Given the description of an element on the screen output the (x, y) to click on. 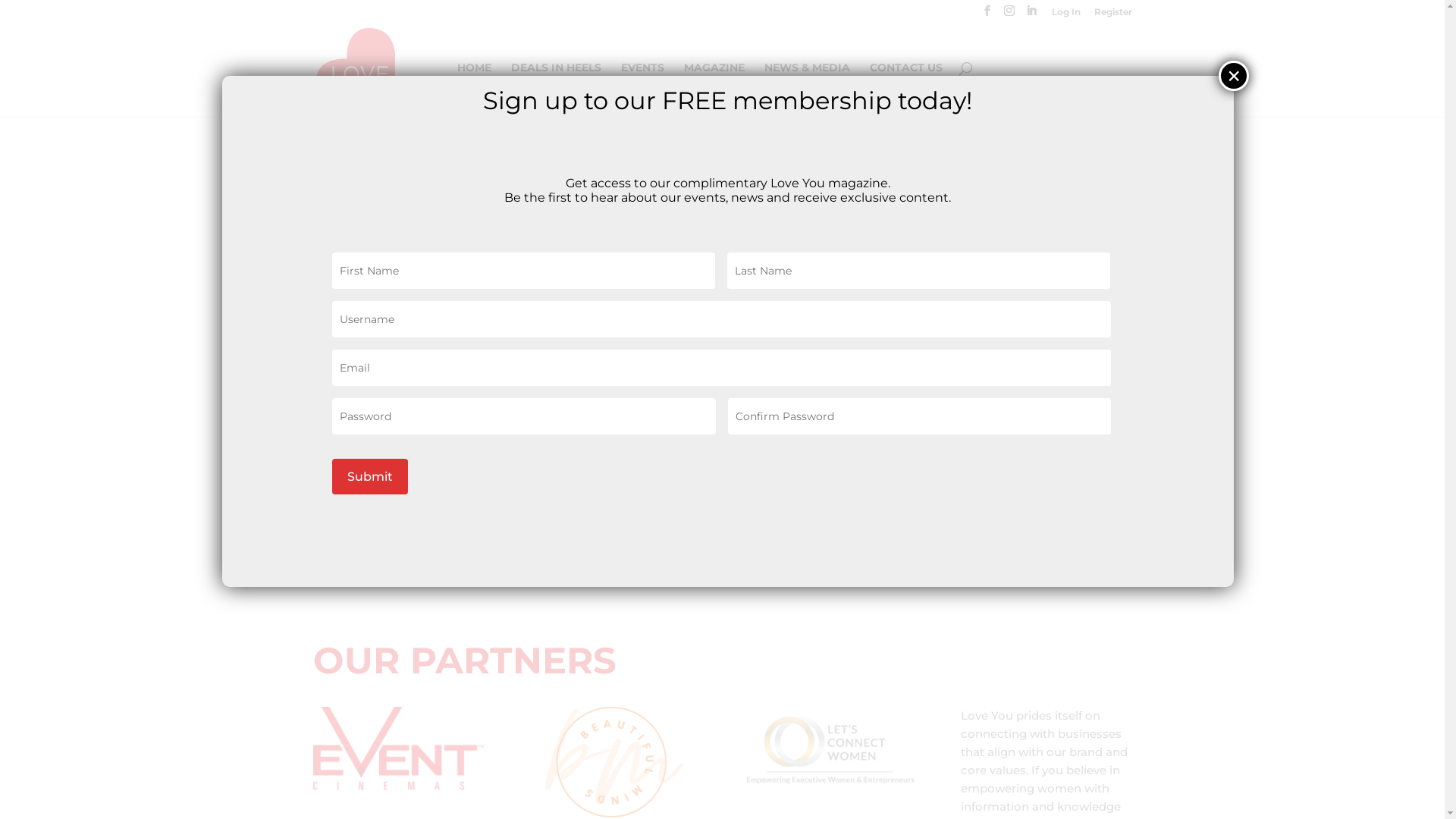
HOME Element type: text (473, 89)
CONTACT US Element type: text (905, 89)
NEWS & MEDIA Element type: text (807, 89)
Register Element type: text (1112, 15)
EVENTS Element type: text (641, 89)
DEALS IN HEELS Element type: text (556, 89)
Return to shop Element type: text (386, 296)
Search Element type: text (1104, 175)
Log In Element type: text (1065, 15)
Submit Element type: text (369, 476)
MAGAZINE Element type: text (714, 89)
>> Element type: text (1180, 257)
<< Element type: text (1000, 257)
